Given the description of an element on the screen output the (x, y) to click on. 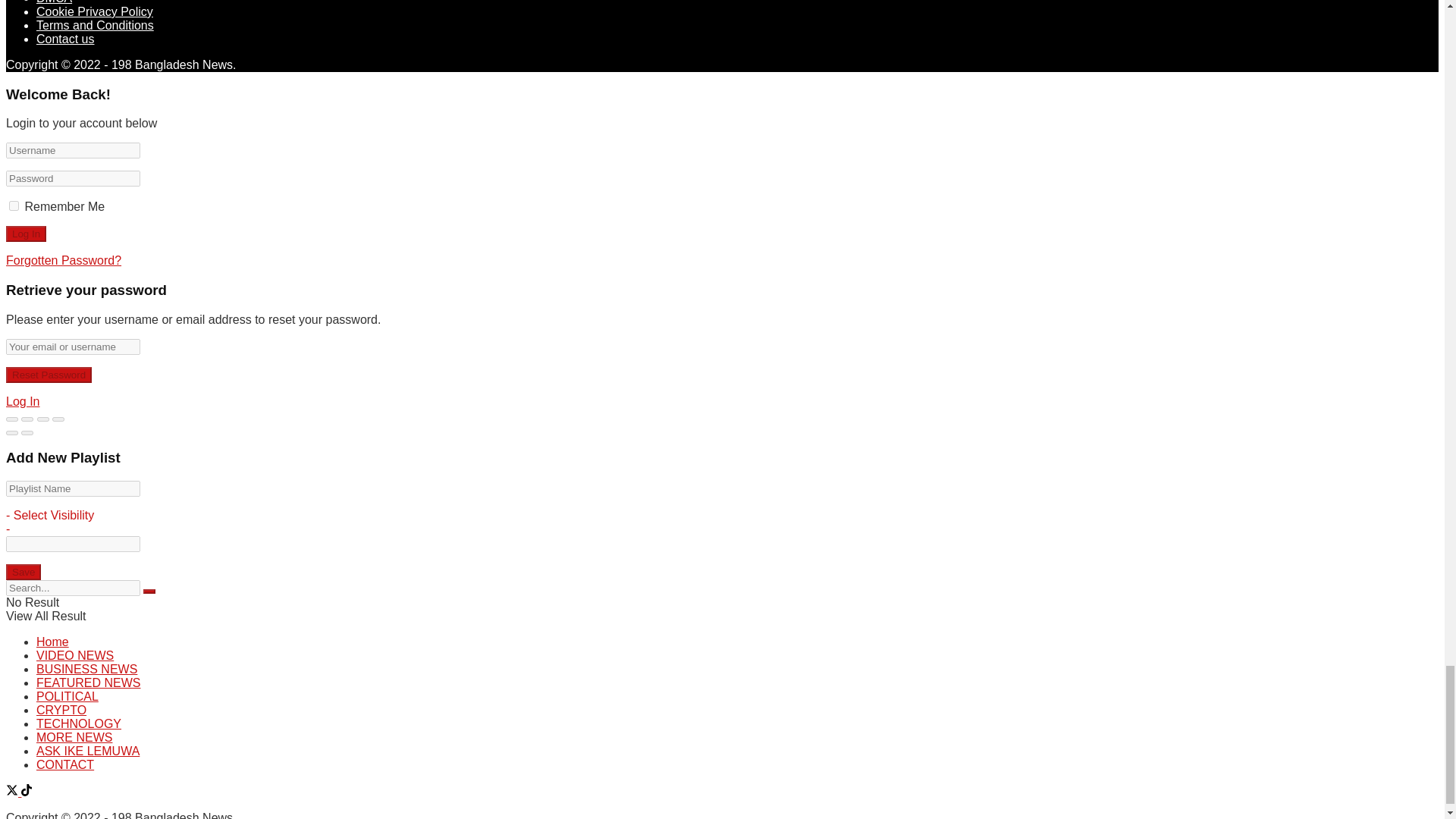
true (13, 205)
Log In (25, 233)
Reset Password (48, 374)
Save (22, 571)
